Given the description of an element on the screen output the (x, y) to click on. 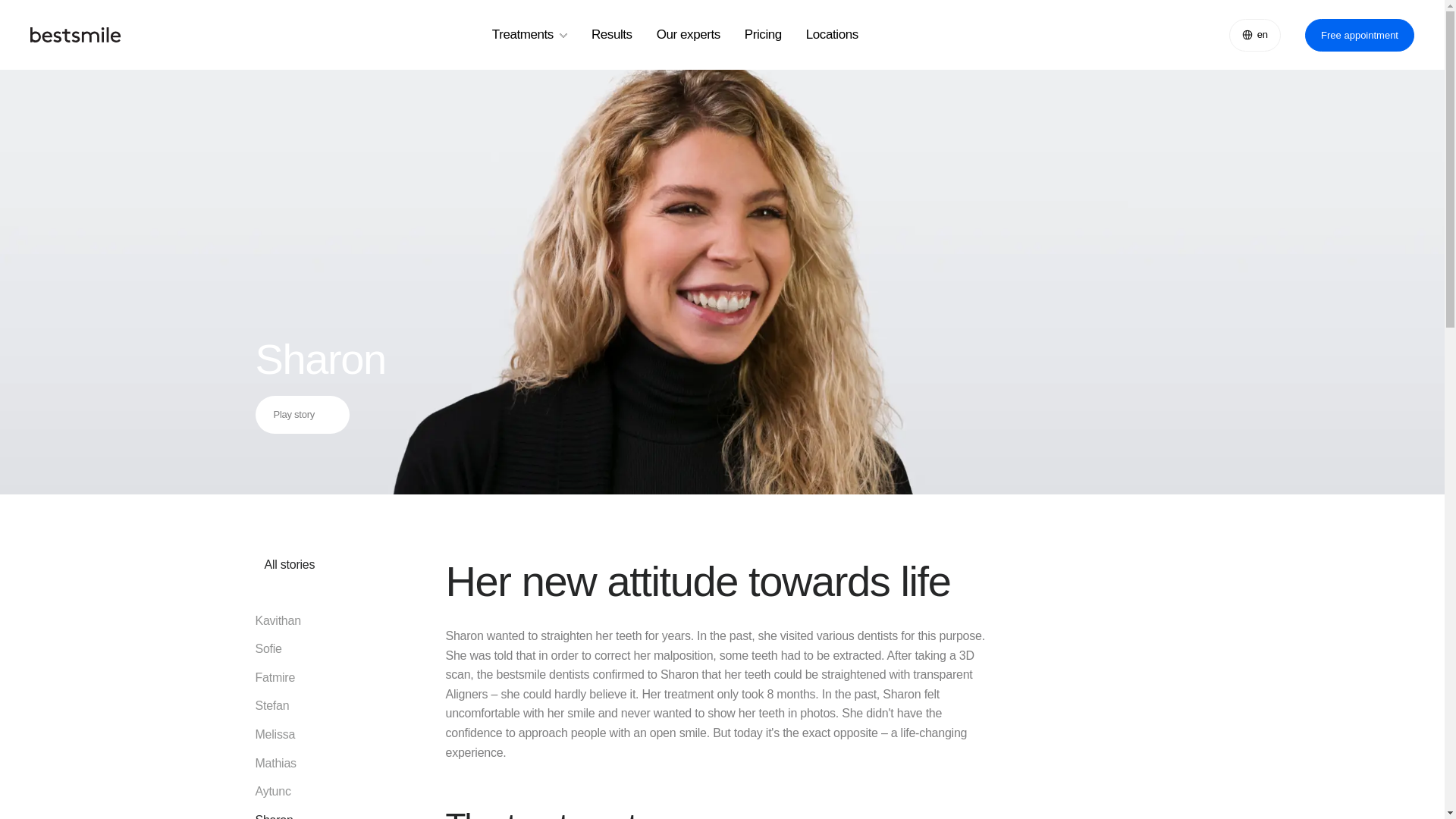
Sofie (284, 649)
Free appointment (1358, 34)
Fatmire (284, 677)
Our experts (688, 34)
Results (611, 34)
Treatments (529, 34)
Results (611, 34)
Aytunc (284, 791)
Our experts (688, 34)
Locations (832, 34)
